Given the description of an element on the screen output the (x, y) to click on. 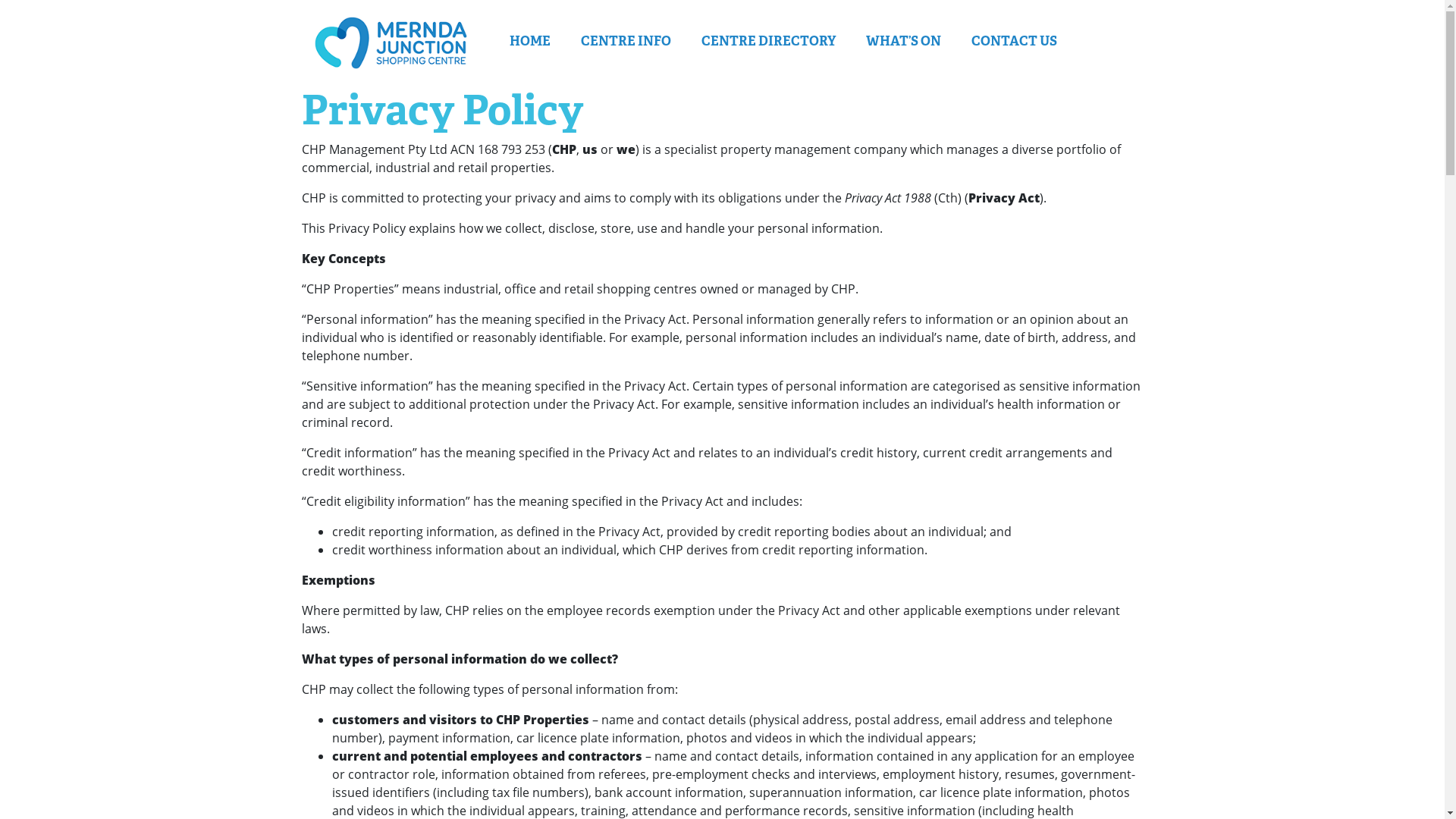
CENTRE INFO Element type: text (625, 41)
CENTRE DIRECTORY Element type: text (767, 41)
CONTACT US Element type: text (1013, 41)
Mernda Junction Shopping Centre Element type: hover (390, 42)
HOME Element type: text (529, 41)
